Given the description of an element on the screen output the (x, y) to click on. 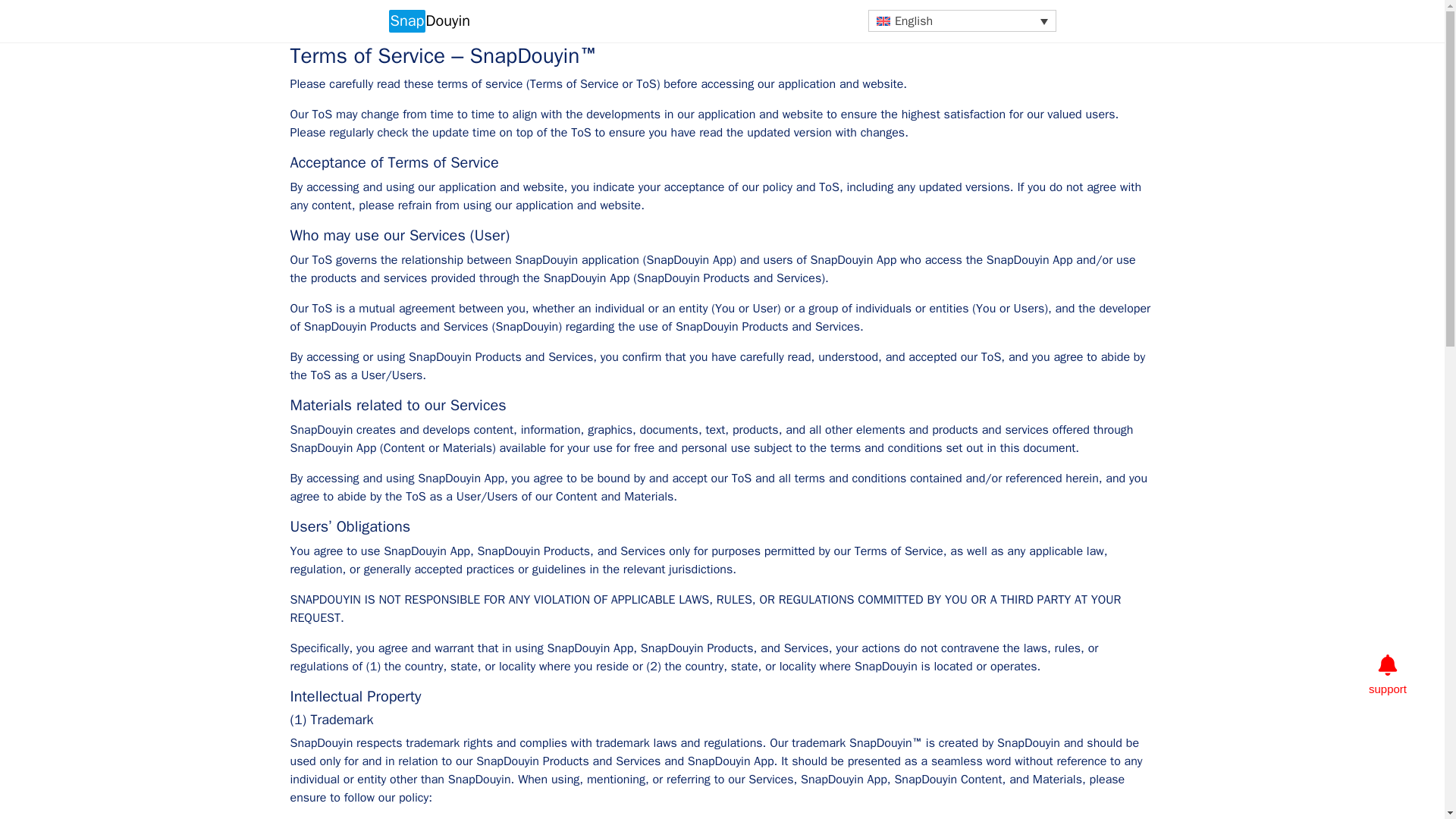
English (961, 20)
support (1387, 688)
SnapDouyin (428, 21)
